Given the description of an element on the screen output the (x, y) to click on. 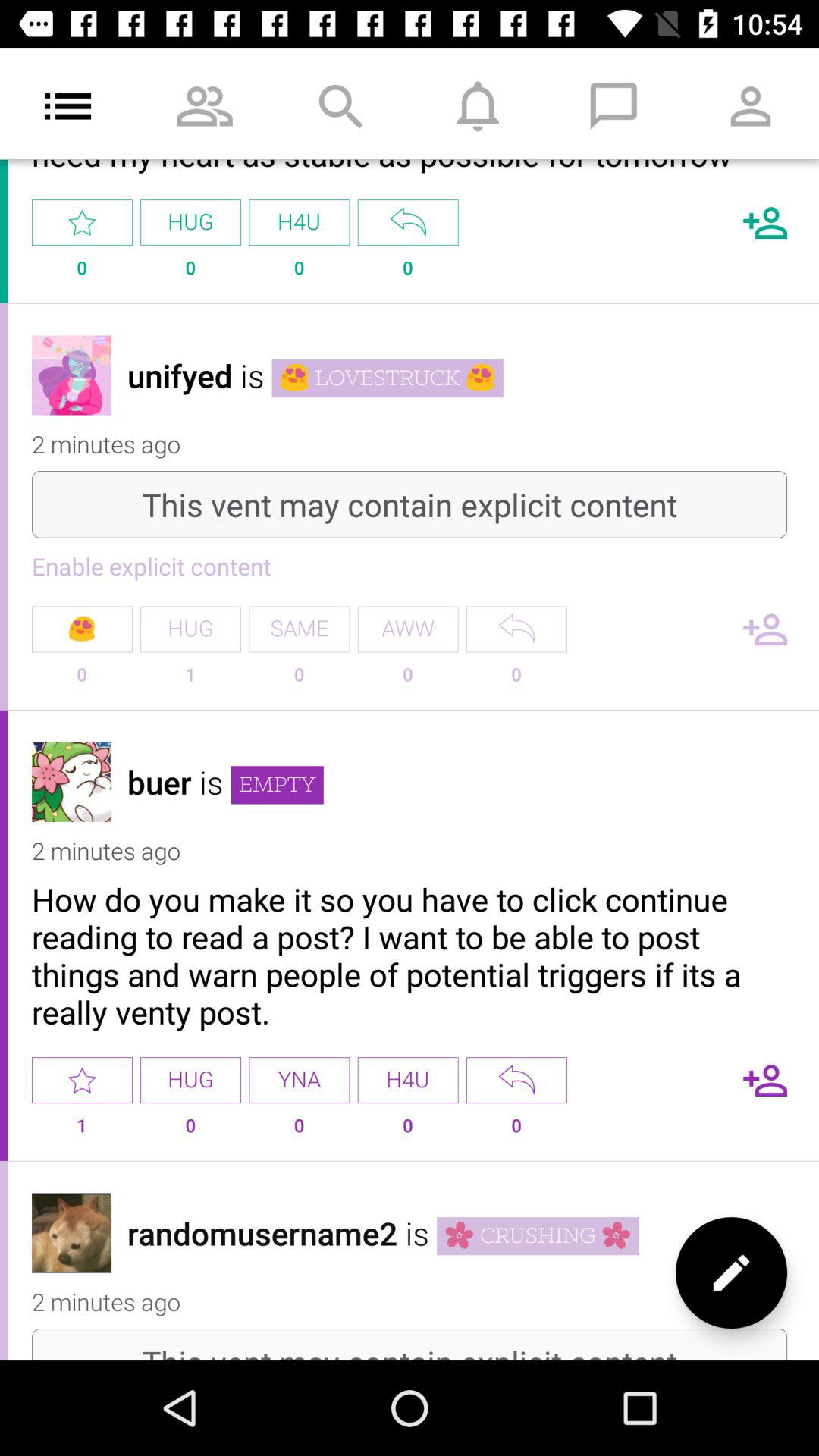
press app to the left of hug (81, 222)
